Given the description of an element on the screen output the (x, y) to click on. 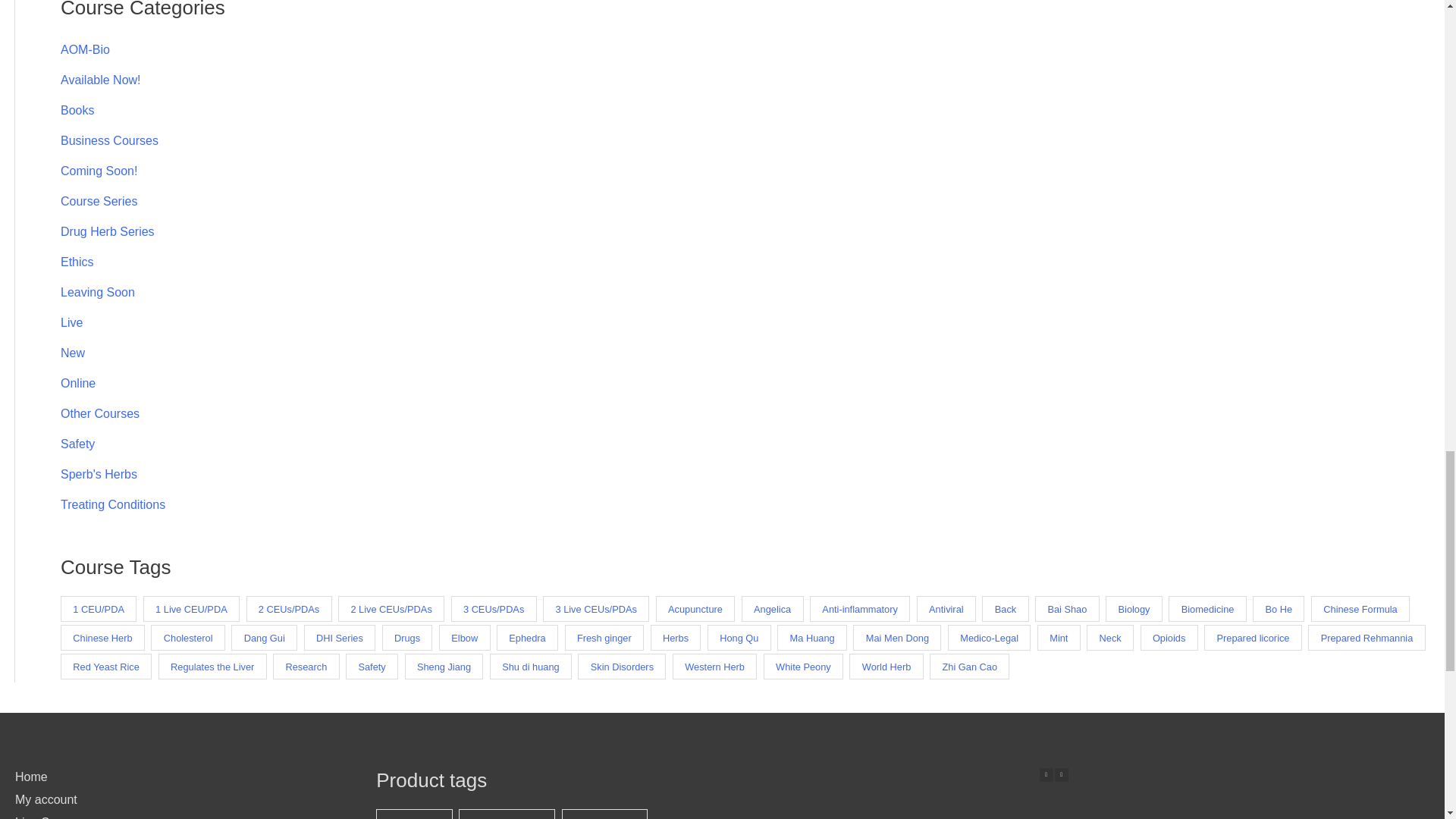
Drug Herb Series (107, 231)
Safety (77, 443)
Coming Soon! (98, 170)
Business Courses (109, 140)
Live (71, 322)
Next (1061, 775)
Online (78, 382)
Course Series (98, 201)
Ethics (77, 261)
AOM-Bio (85, 49)
